Given the description of an element on the screen output the (x, y) to click on. 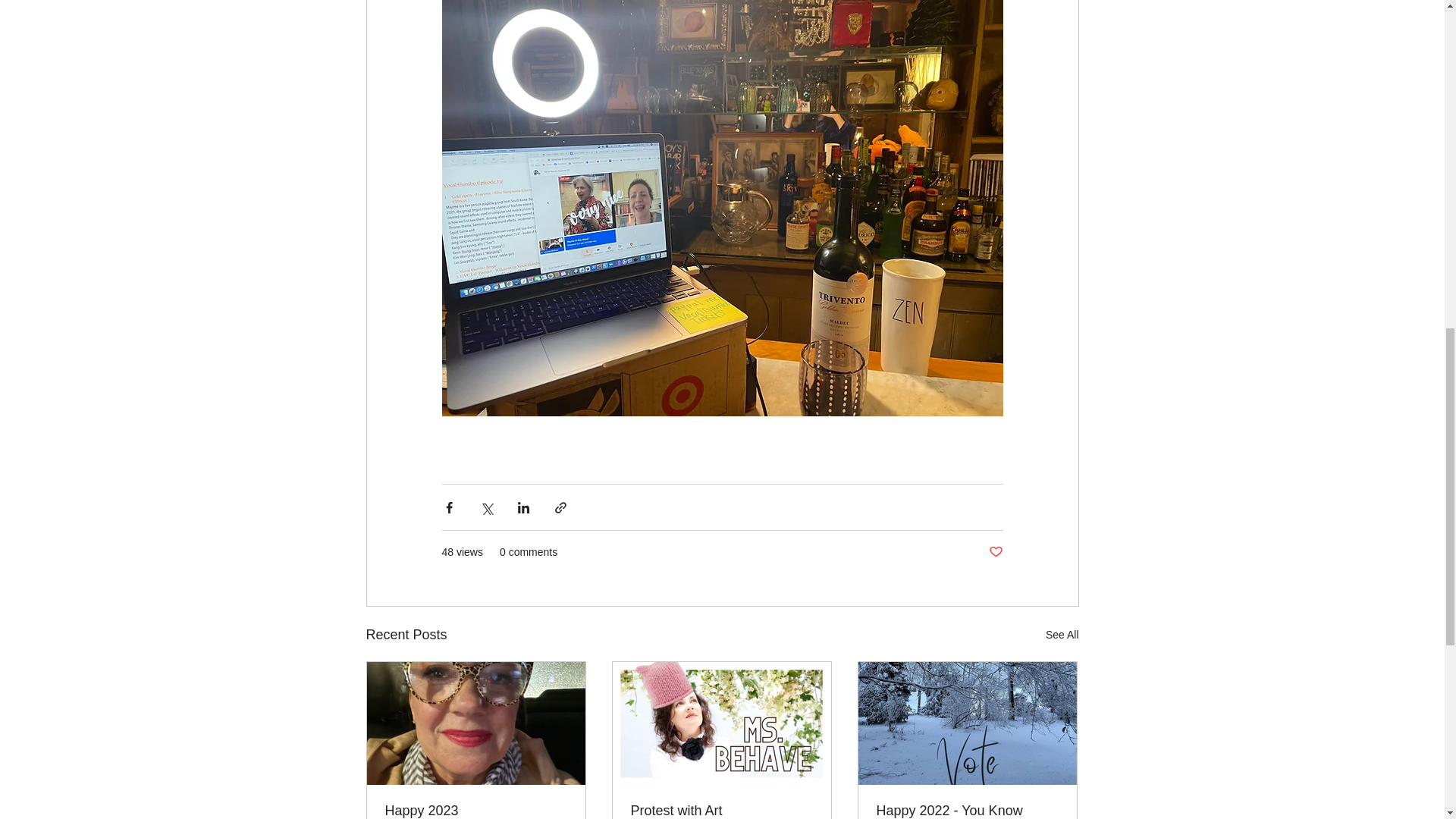
See All (1061, 635)
Happy 2023 (476, 811)
Protest with Art (721, 811)
Happy 2022 - You Know What To Do - VOTE (967, 811)
Post not marked as liked (995, 552)
